Given the description of an element on the screen output the (x, y) to click on. 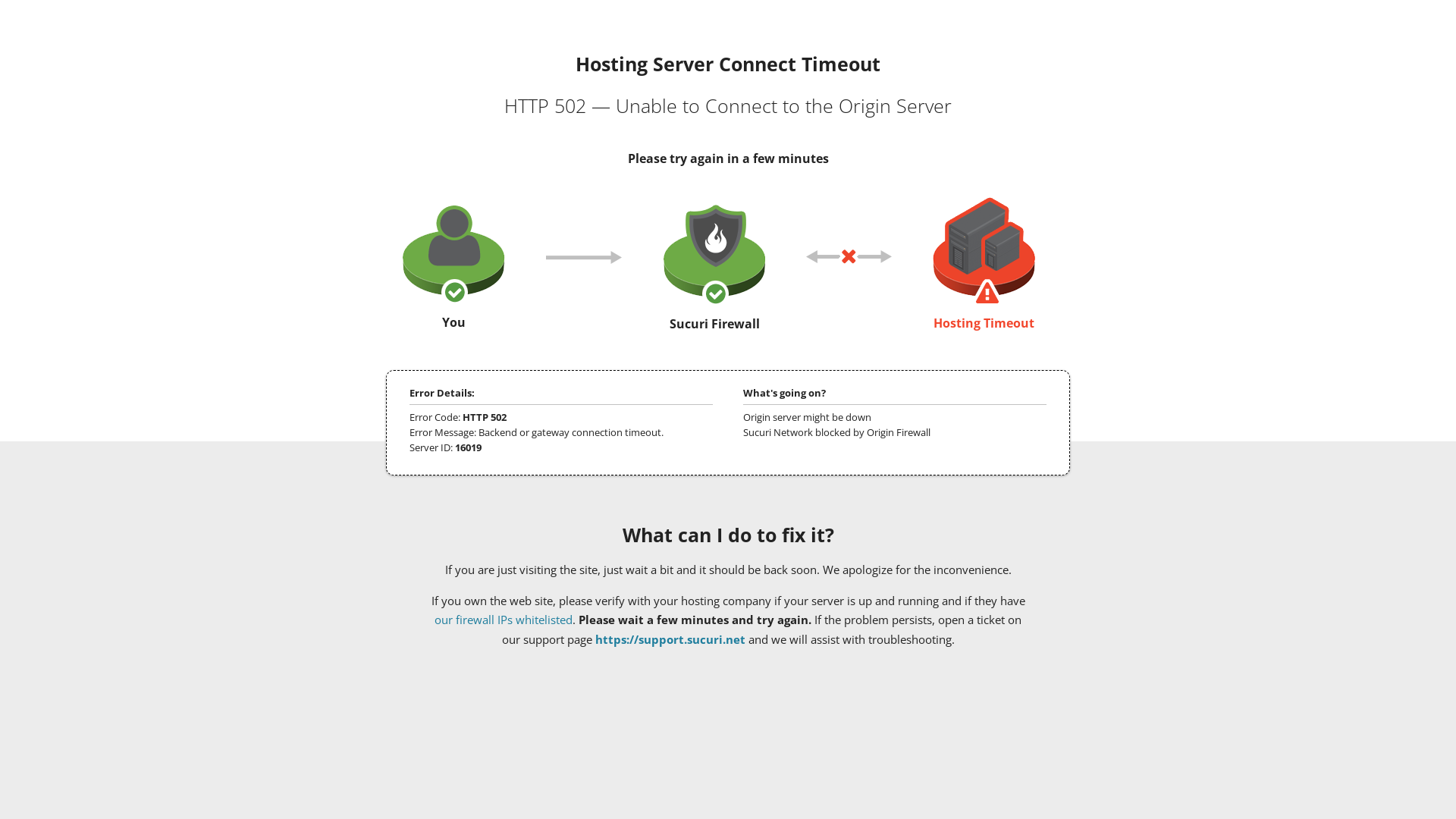
our firewall IPs whitelisted Element type: text (503, 619)
https://support.sucuri.net Element type: text (669, 638)
